Given the description of an element on the screen output the (x, y) to click on. 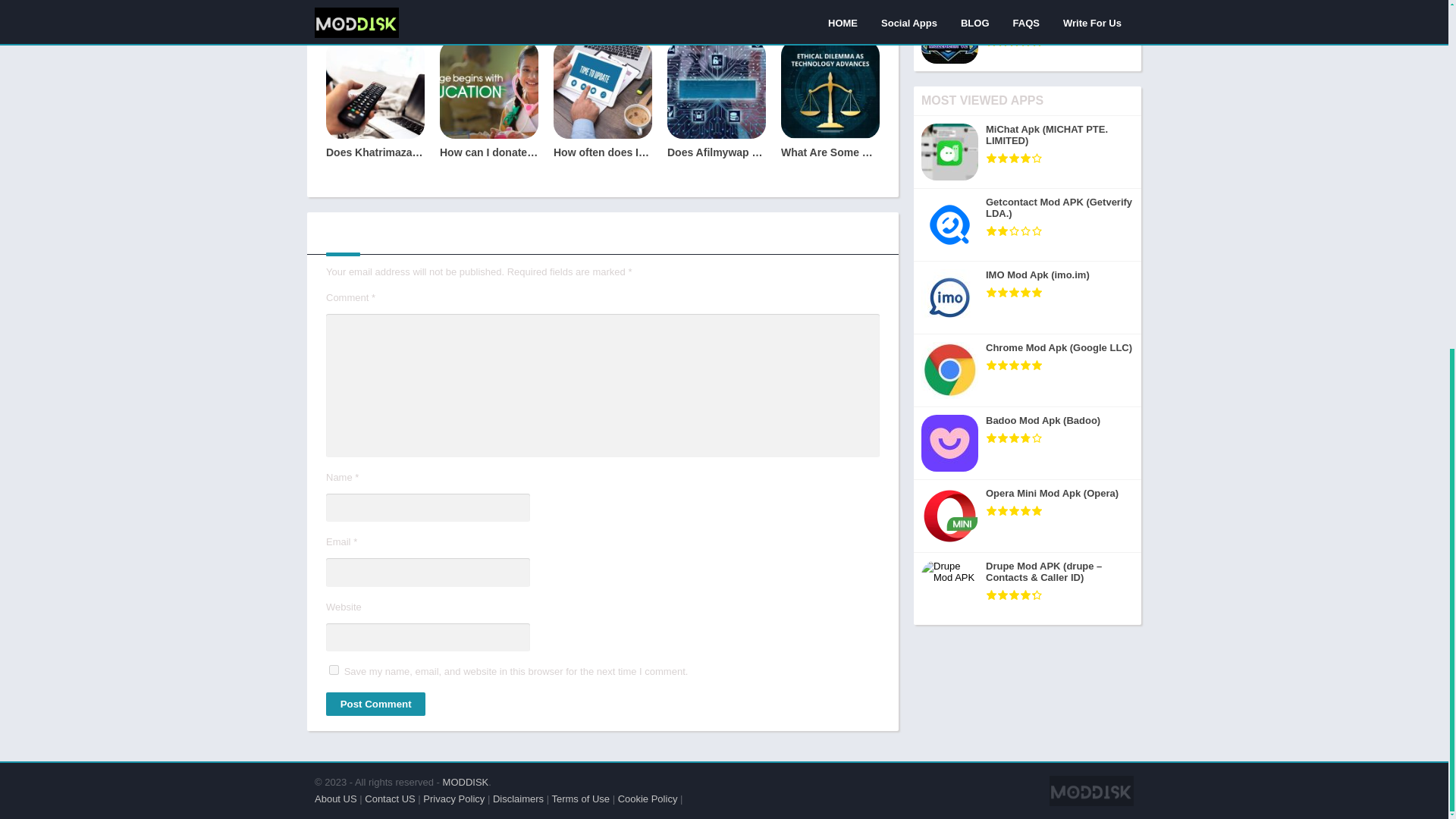
yes (334, 669)
Post Comment (375, 703)
